Given the description of an element on the screen output the (x, y) to click on. 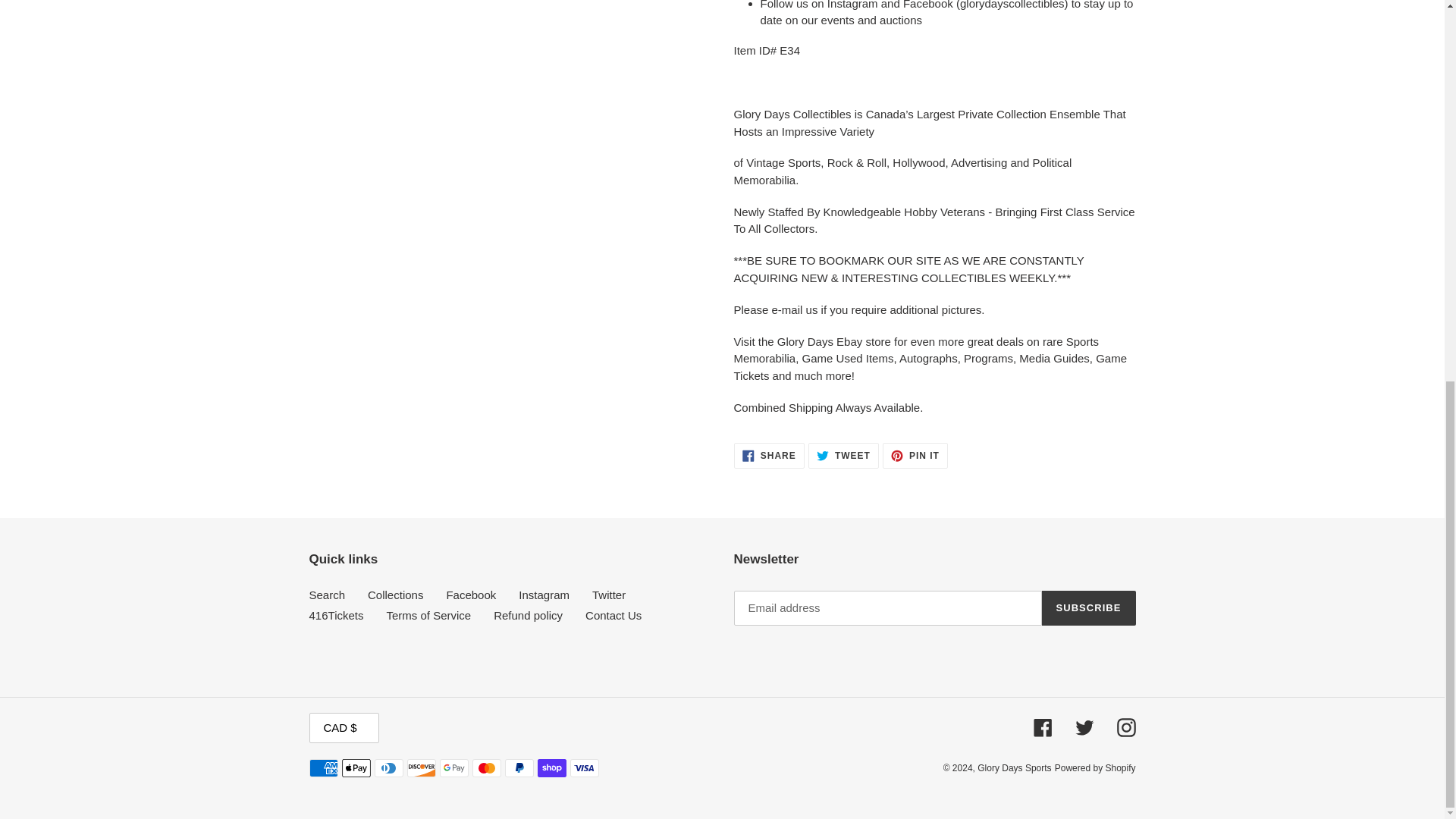
SUBSCRIBE (1088, 607)
Contact Us (613, 615)
Terms of Service (427, 615)
416Tickets (769, 455)
Instagram (914, 455)
Search (336, 615)
Twitter (543, 594)
